Given the description of an element on the screen output the (x, y) to click on. 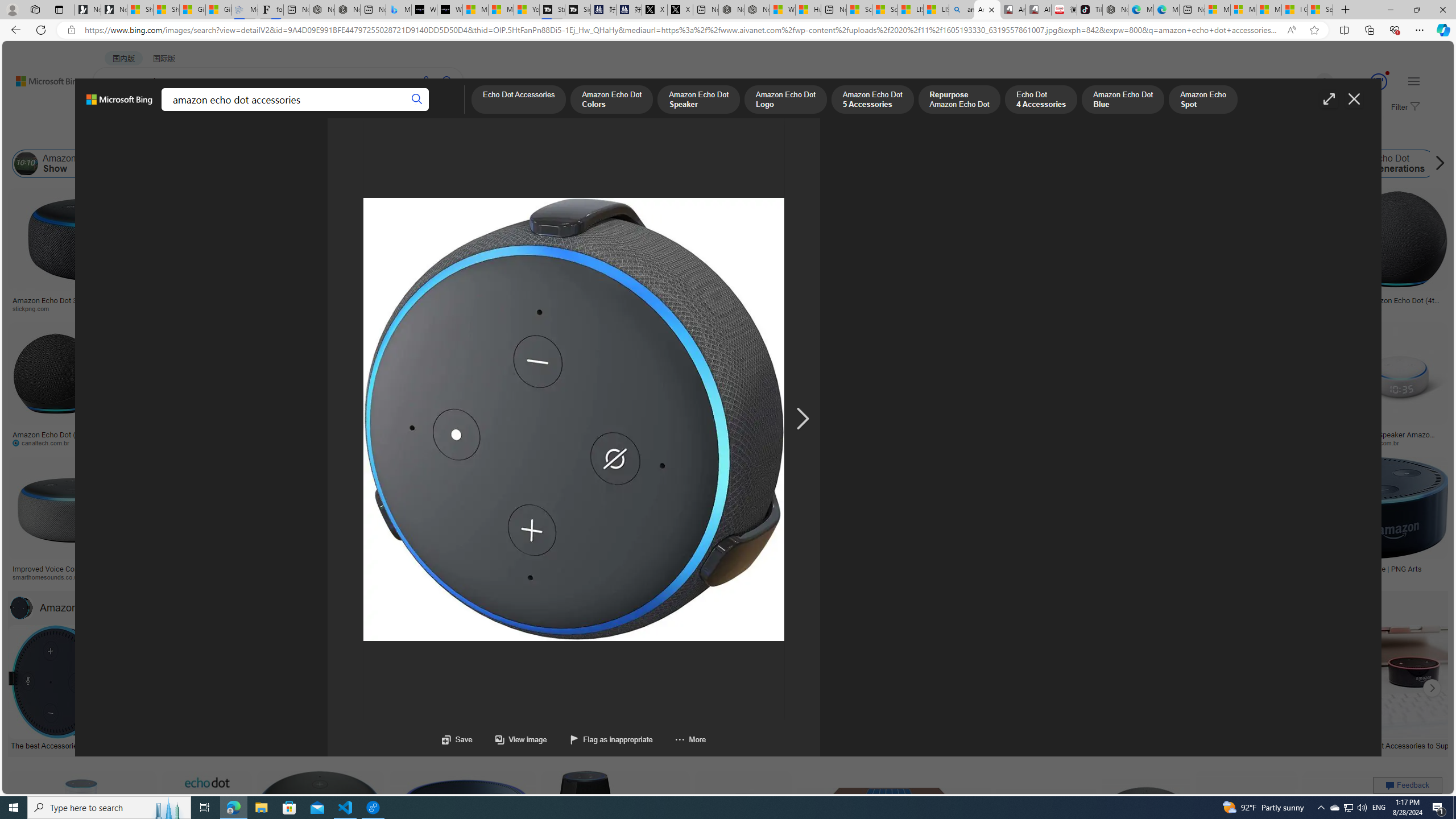
Echo Dot with Clock (565, 261)
currys.co.uk (1046, 576)
security.org (249, 576)
Type (212, 135)
Best Amazon Echo Dot Accessories for 2024 (976, 744)
Eugene (1307, 81)
